Given the description of an element on the screen output the (x, y) to click on. 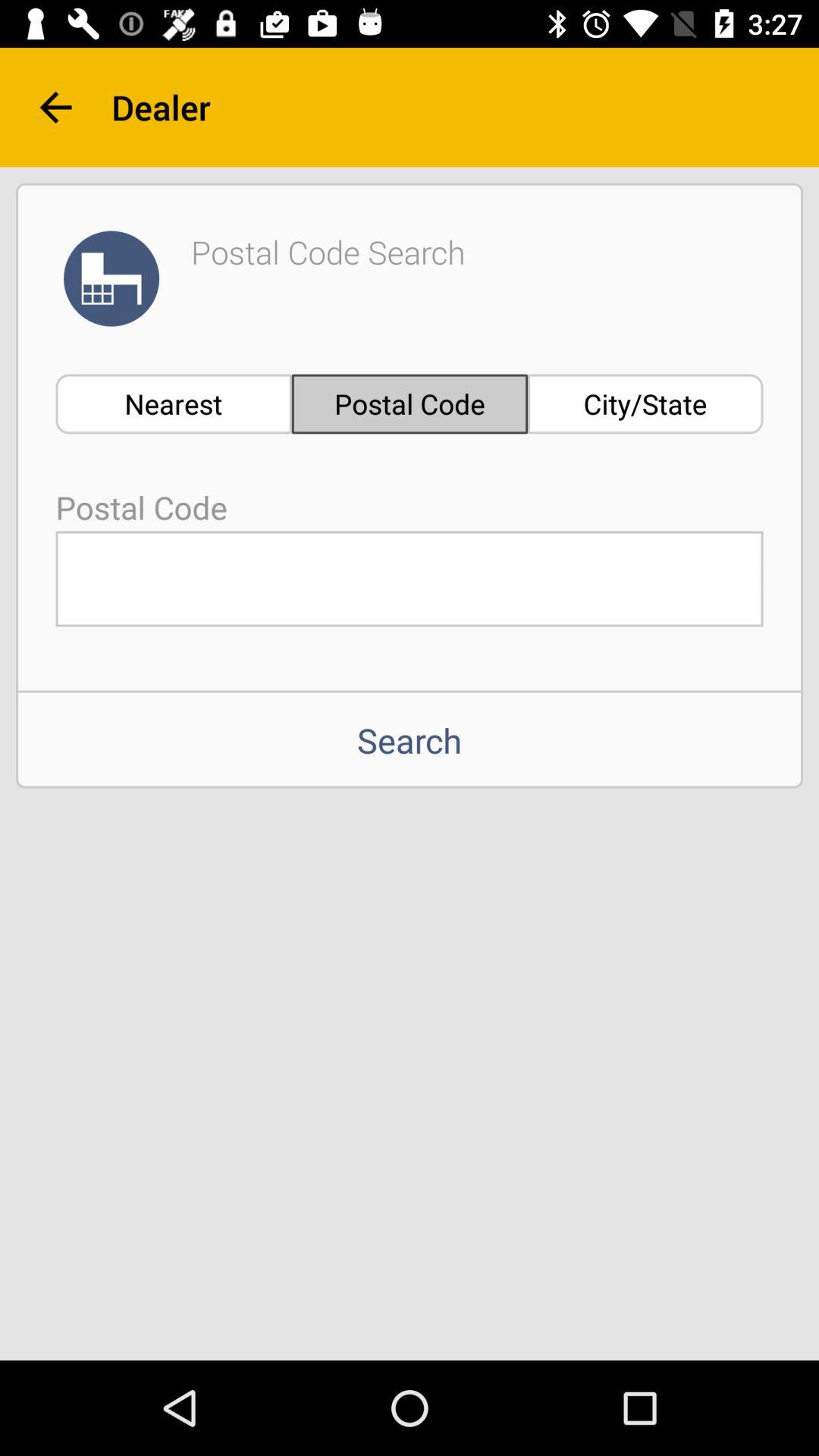
select field (409, 578)
